Given the description of an element on the screen output the (x, y) to click on. 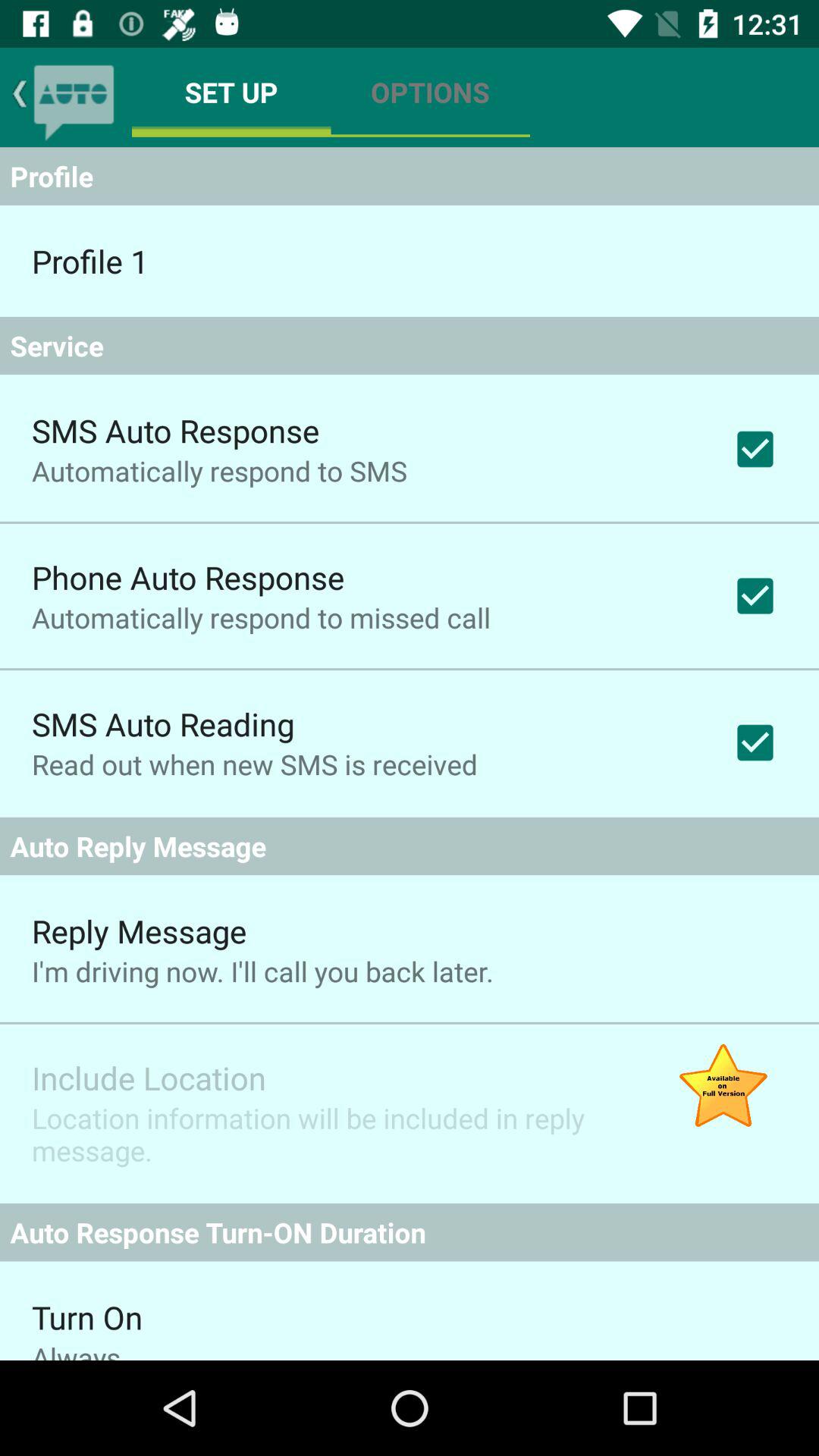
click item below the profile 1 (409, 345)
